Given the description of an element on the screen output the (x, y) to click on. 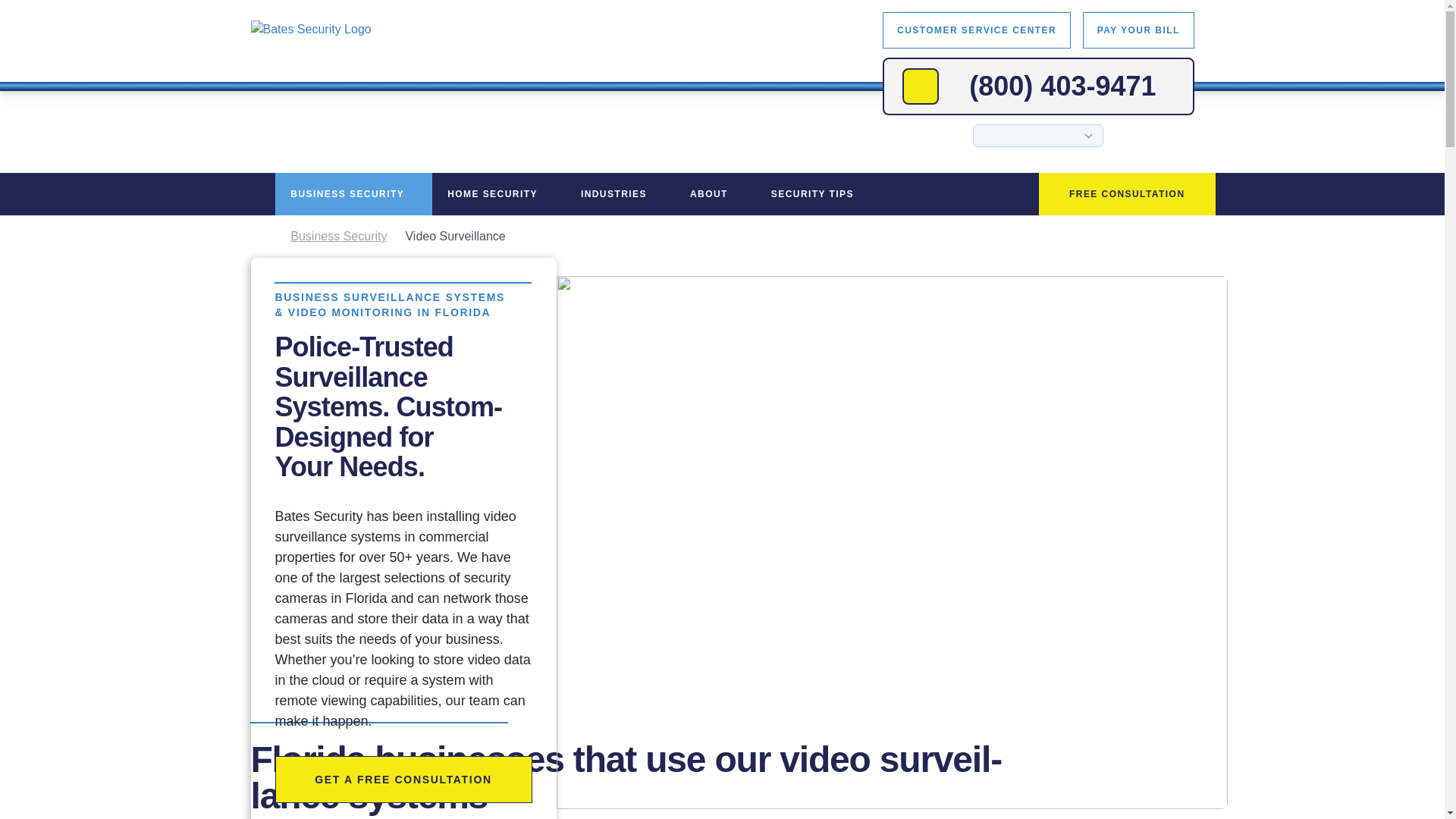
ABOUT (715, 193)
PAY YOUR BILL (1138, 30)
HOME SECURITY (499, 193)
CUSTOMER SERVICE CENTER (976, 30)
INDUSTRIES (620, 193)
Home (264, 236)
BUSINESS SECURITY (353, 193)
